Given the description of an element on the screen output the (x, y) to click on. 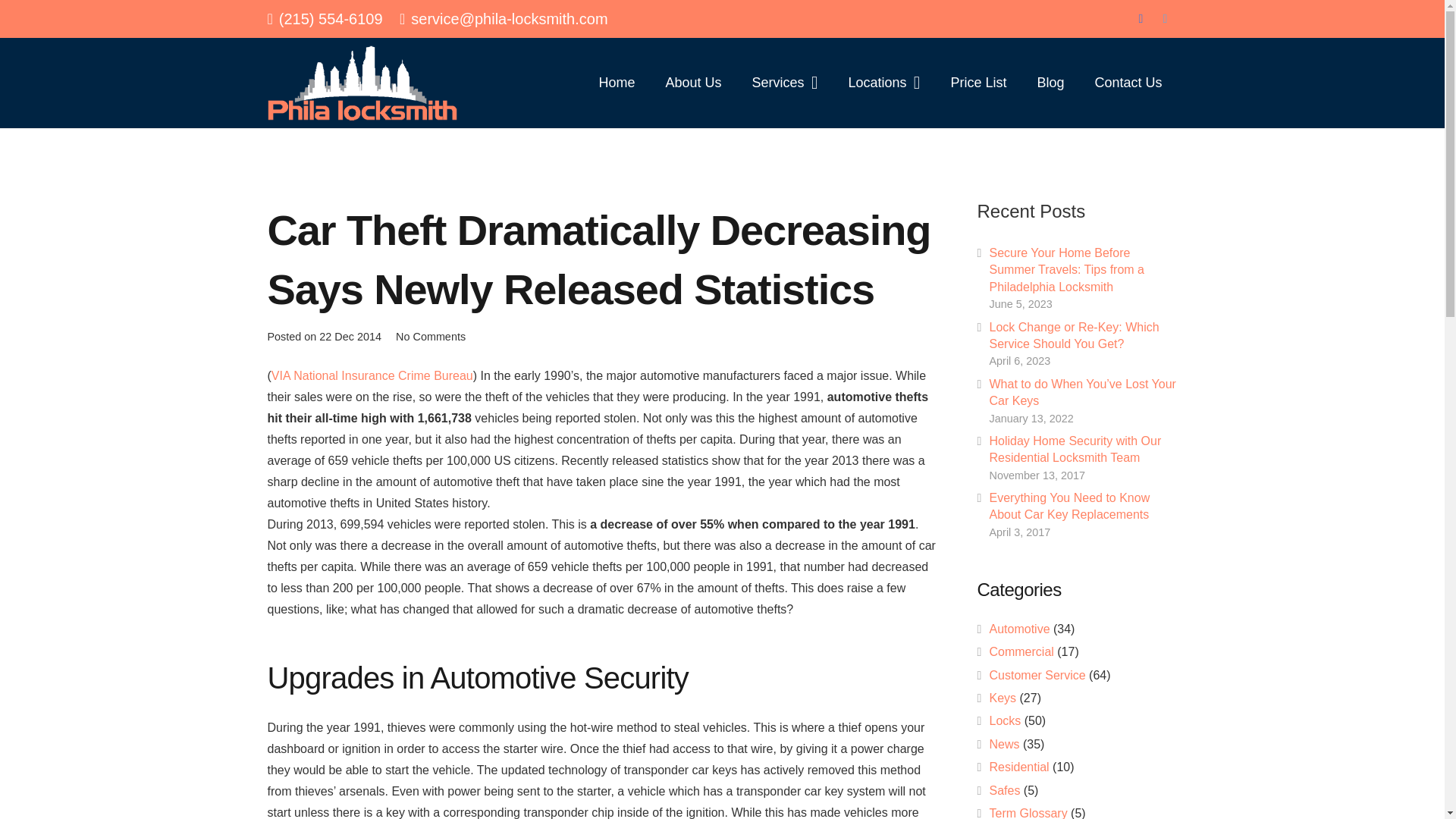
VIA National Insurance Crime Bureau (371, 375)
Locations (883, 82)
No Comments (430, 336)
Contact Us (1127, 82)
Twitter (1164, 18)
Services (784, 82)
nicb vehicle theft statistics (371, 375)
Facebook (1140, 18)
Price List (978, 82)
No Comments (430, 336)
